Given the description of an element on the screen output the (x, y) to click on. 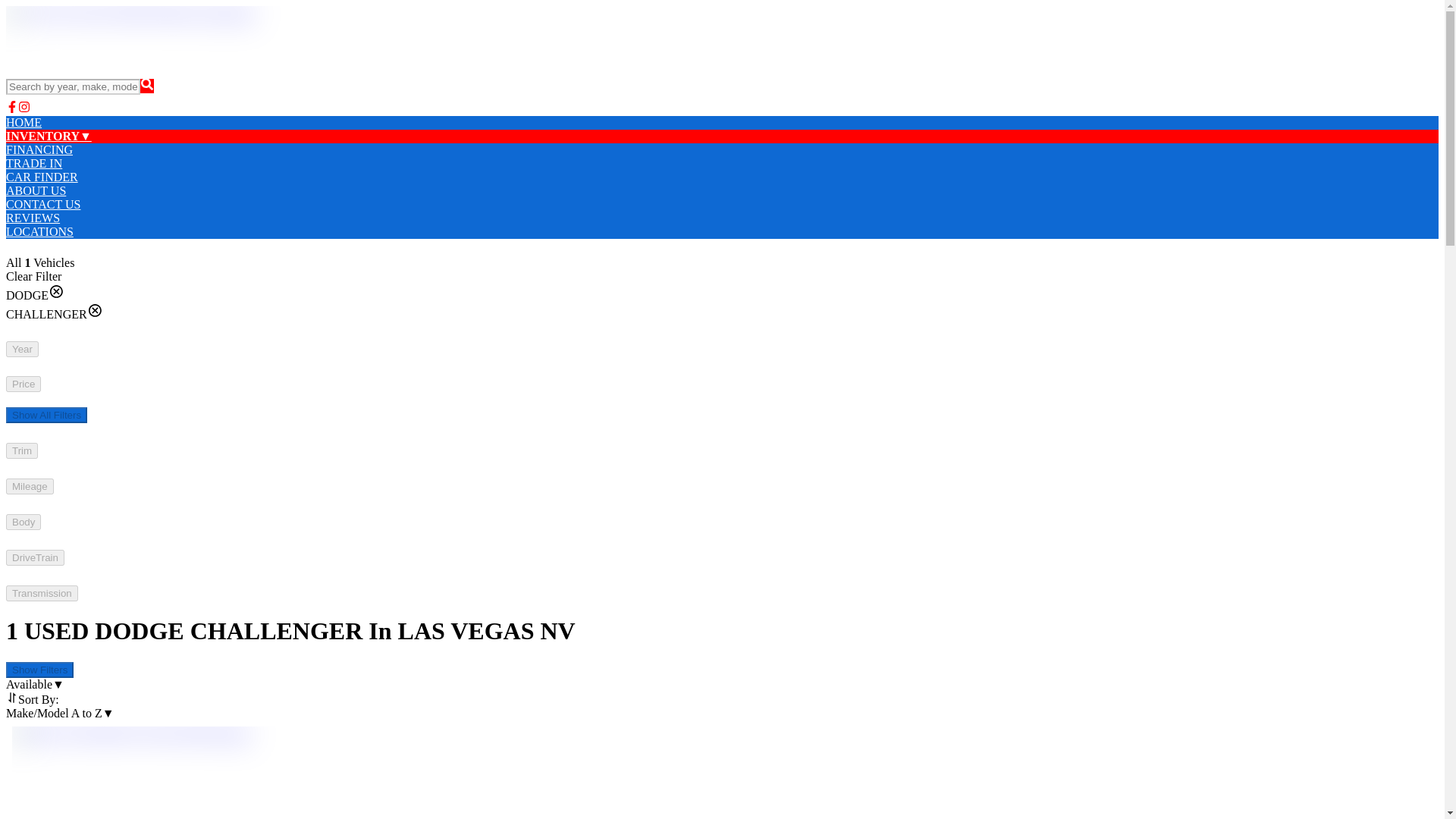
HOME (23, 122)
DriveTrain (34, 557)
Transmission (41, 593)
Body (22, 521)
CAR FINDER (41, 176)
ABOUT US (35, 190)
Show Filters (39, 669)
TRADE IN (33, 163)
Price (22, 383)
FINANCING (38, 149)
Year (22, 349)
REVIEWS (32, 217)
Mileage (29, 486)
Trim (21, 450)
LOCATIONS (39, 231)
